Given the description of an element on the screen output the (x, y) to click on. 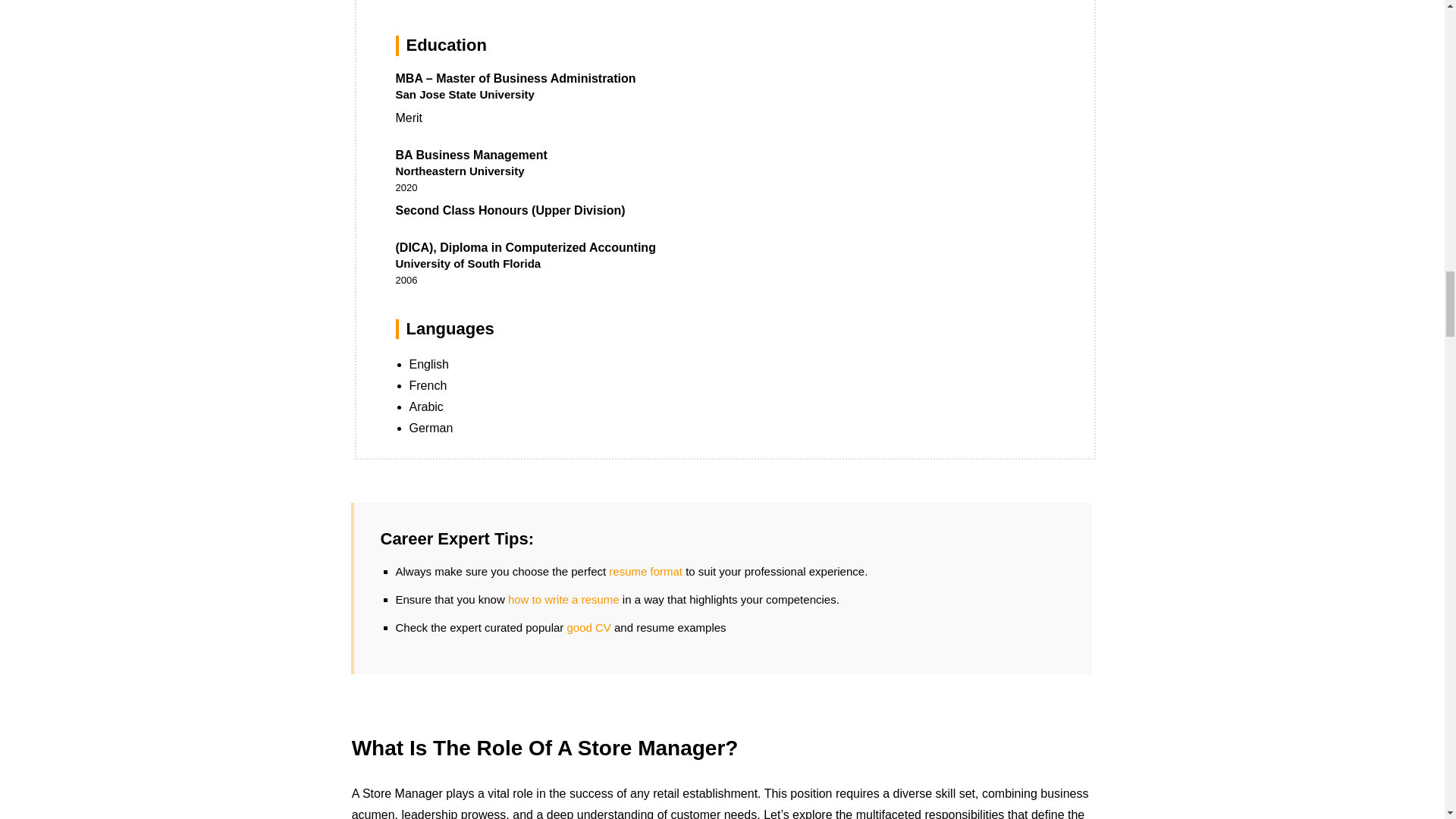
good cv (588, 626)
resume format (645, 571)
resume format (645, 571)
how to write a resume (564, 599)
